Given the description of an element on the screen output the (x, y) to click on. 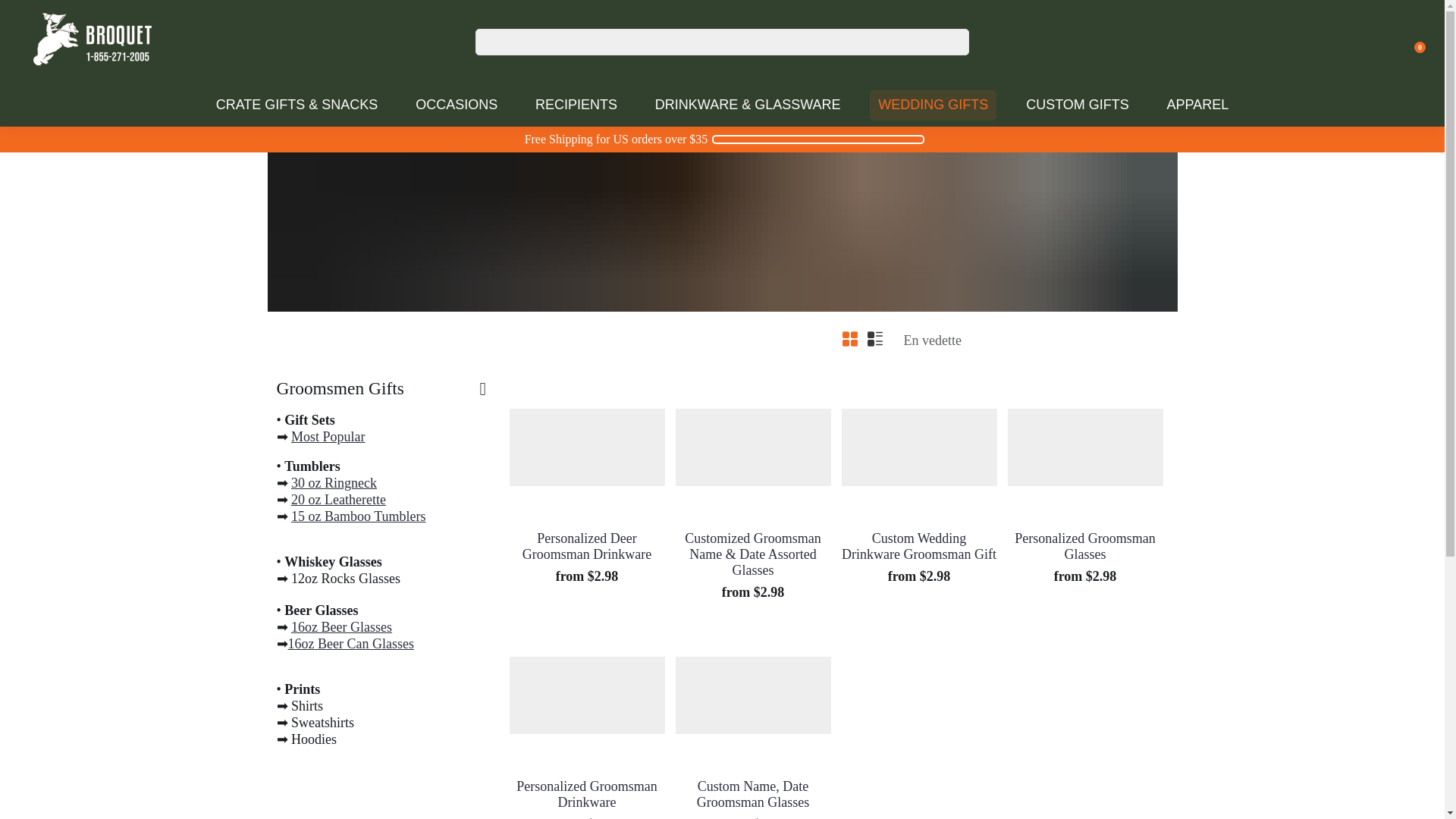
20oz Leatherette Tumblers (338, 499)
OCCASIONS (456, 105)
15oz bamboo groomsmen (358, 516)
